Given the description of an element on the screen output the (x, y) to click on. 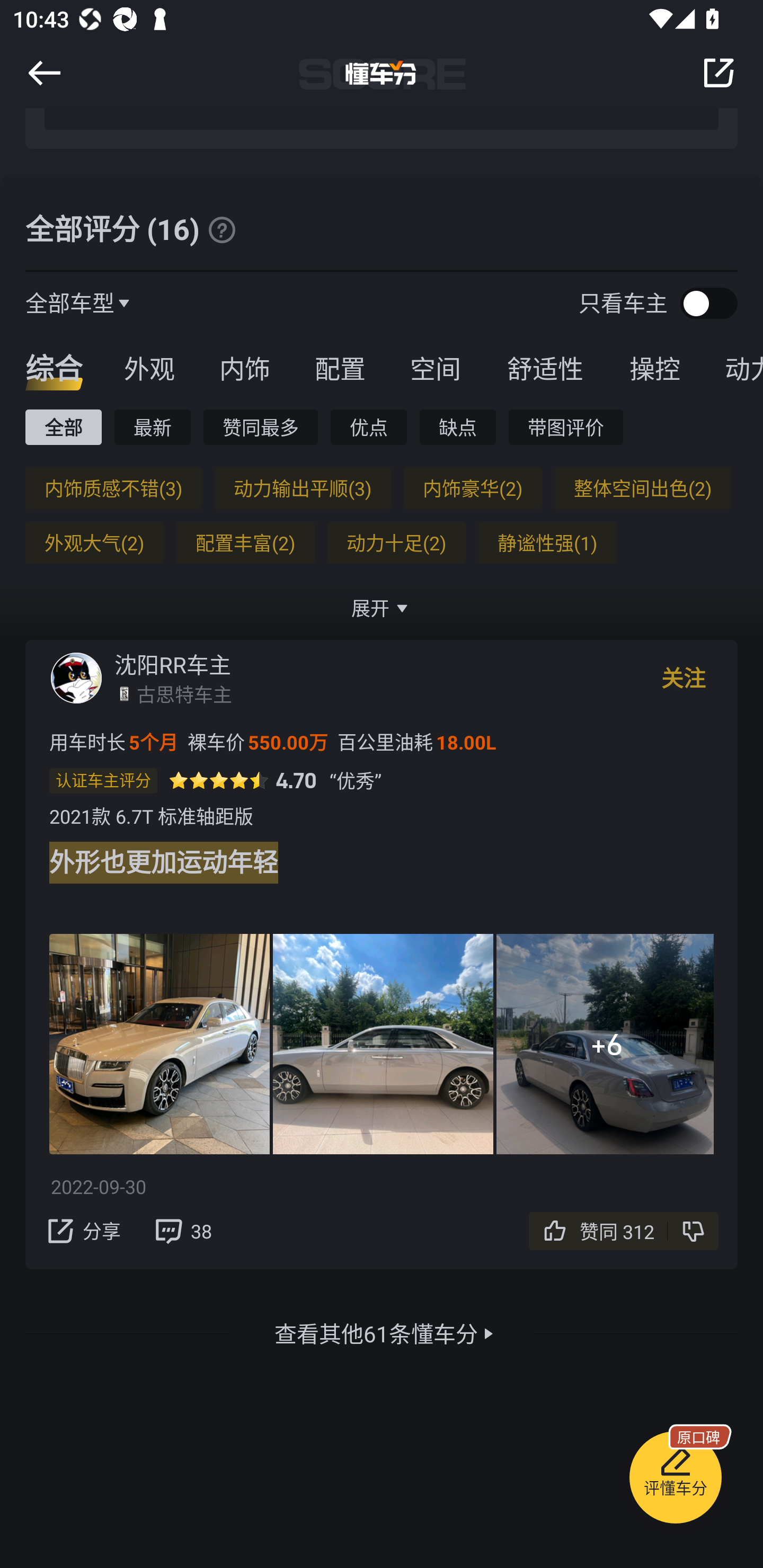
 (44, 72)
 (718, 72)
 (222, 229)
全部车型 (69, 302)
外观 (148, 368)
内饰 (244, 368)
配置 (339, 368)
空间 (434, 368)
舒适性 (544, 368)
操控 (654, 368)
全部 (63, 427)
最新 (152, 427)
赞同最多 (260, 427)
优点 (368, 427)
缺点 (457, 427)
带图评价 (565, 427)
内饰质感不错(3) (113, 488)
动力输出平顺(3) (302, 488)
内饰豪华(2) (472, 488)
整体空间出色(2) (642, 488)
外观大气(2) (94, 542)
配置丰富(2) (245, 542)
动力十足(2) (396, 542)
静谧性强(1) (547, 542)
展开  (381, 608)
沈阳RR车主 (172, 663)
关注 (683, 677)
古思特车主 (183, 693)
+6 (604, 1044)
 分享 (82, 1230)
 38 (182, 1230)
赞同 312 (619, 1231)
查看其他61条懂车分 (375, 1333)
 评懂车分 原口碑 (675, 1480)
